Given the description of an element on the screen output the (x, y) to click on. 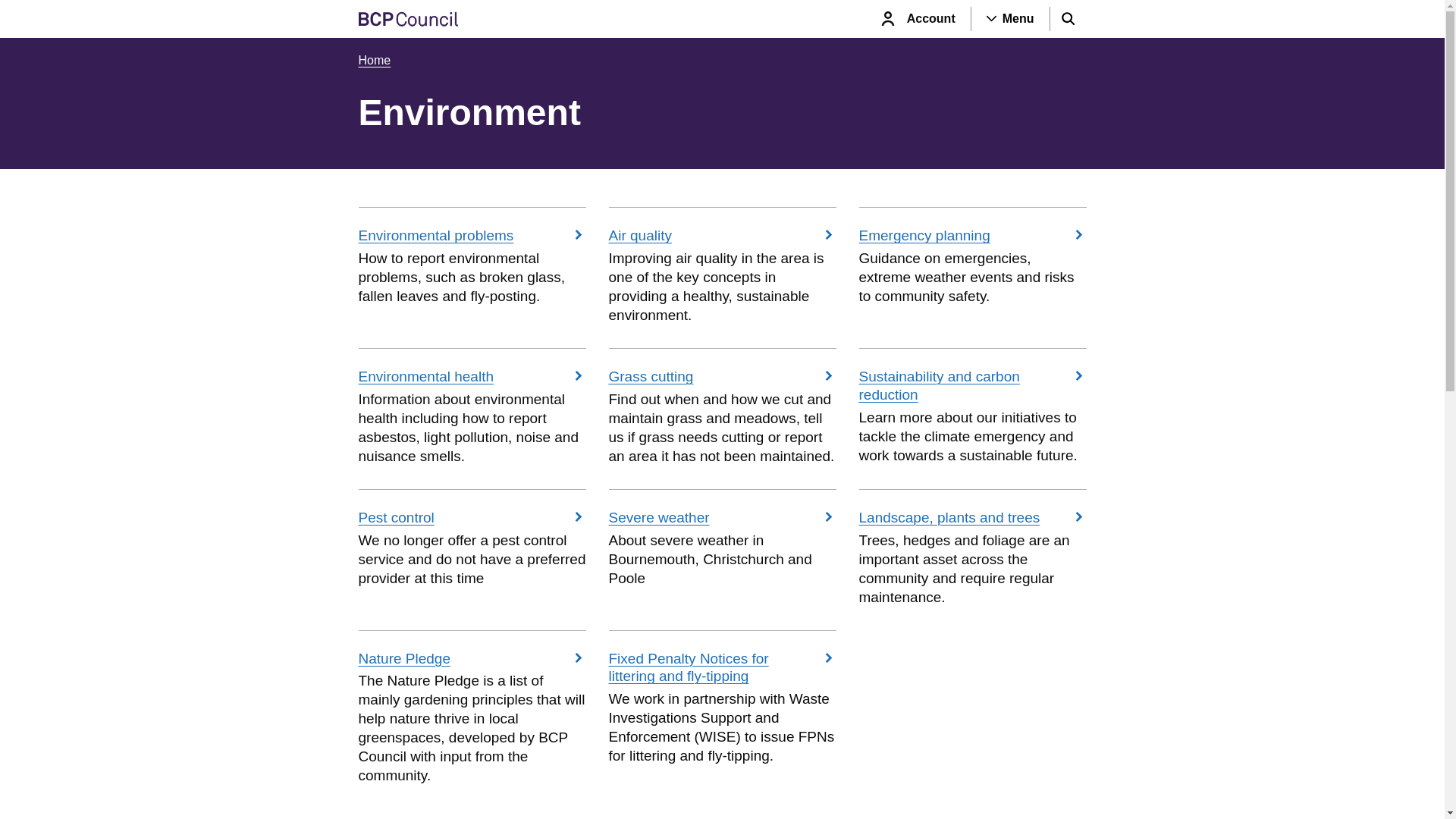
Fixed Penalty Notices for littering and fly-tipping (721, 666)
Nature Pledge (471, 657)
Account (920, 18)
Environmental problems (471, 233)
Environmental health (471, 374)
Sustainability and carbon reduction (972, 383)
Emergency planning (972, 233)
BCP Council (407, 18)
Menu (1010, 18)
Grass cutting (721, 374)
Landscape, plants and trees (972, 516)
Severe weather (721, 516)
Skip to main content (19, 14)
Home (374, 60)
Air quality (721, 233)
